Given the description of an element on the screen output the (x, y) to click on. 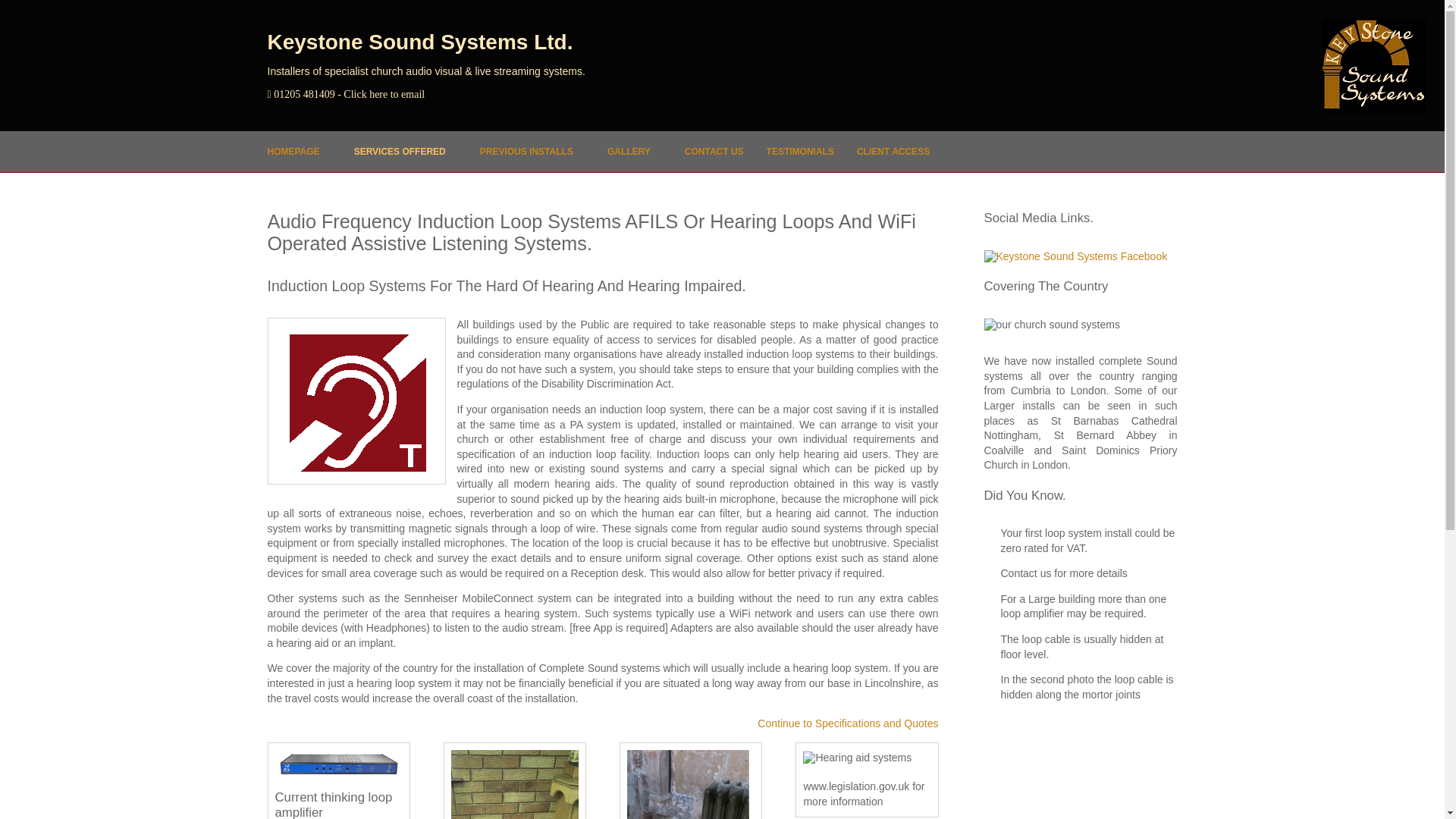
Pages (393, 151)
CONTACT US (708, 151)
HOMEPAGE (292, 151)
Gallery (622, 151)
CLIENT ACCESS (893, 151)
TESTIMONIALS (800, 151)
PREVIOUS INSTALLS (520, 151)
GALLERY (622, 151)
SERVICES OFFERED (393, 151)
Click here to email (384, 93)
